Given the description of an element on the screen output the (x, y) to click on. 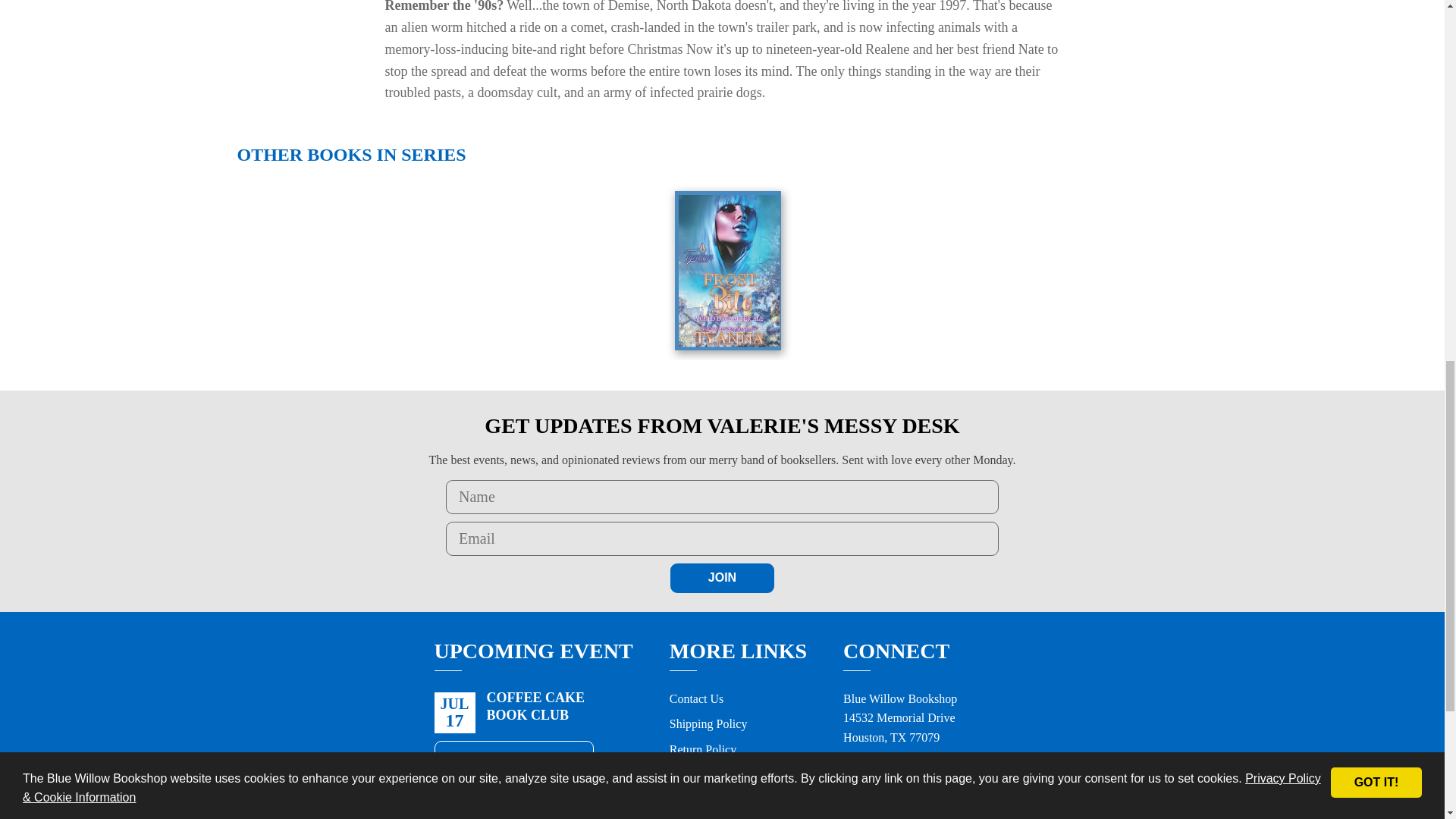
Join (721, 577)
GOT IT! (1376, 55)
